Given the description of an element on the screen output the (x, y) to click on. 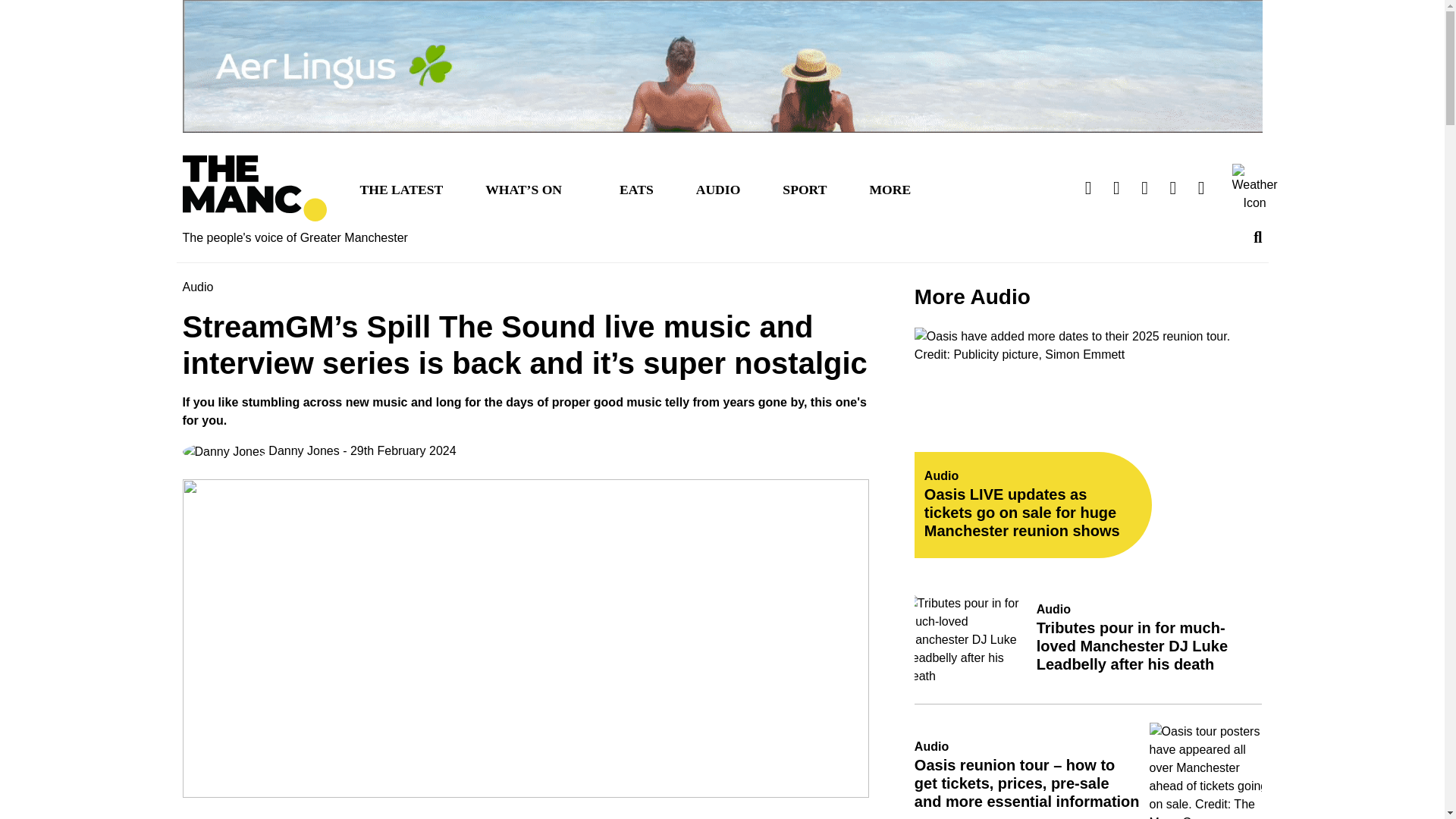
SPORT (804, 188)
THE LATEST (400, 188)
Danny Jones (260, 451)
MORE (890, 188)
AUDIO (718, 188)
The Manc (254, 188)
EATS (635, 188)
